Given the description of an element on the screen output the (x, y) to click on. 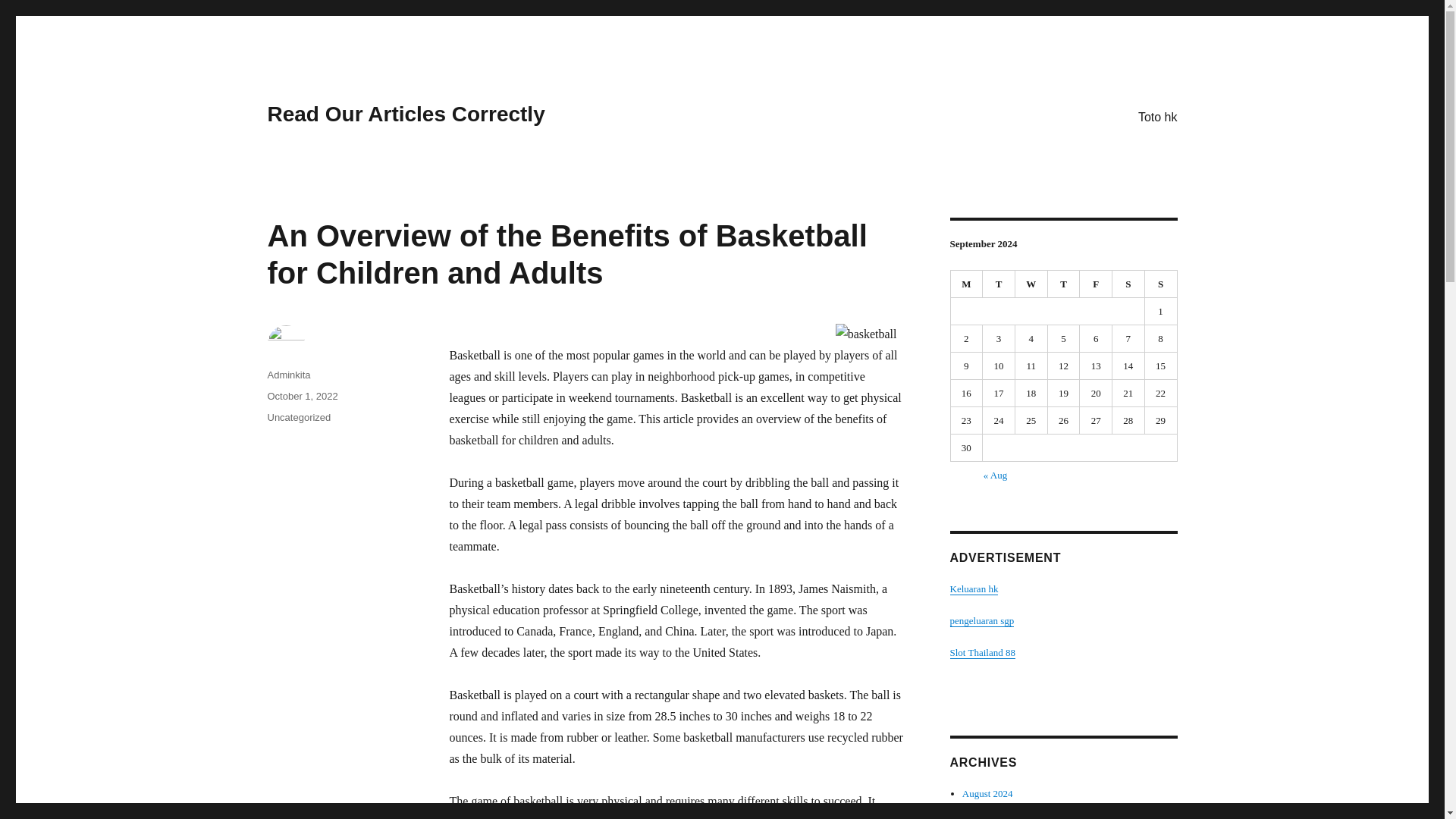
Saturday (1128, 284)
Sunday (1160, 284)
October 1, 2022 (301, 396)
Tuesday (998, 284)
Thursday (1064, 284)
Wednesday (1031, 284)
Read Our Articles Correctly (405, 114)
Toto hk (1157, 116)
Adminkita (288, 374)
Friday (1096, 284)
